Given the description of an element on the screen output the (x, y) to click on. 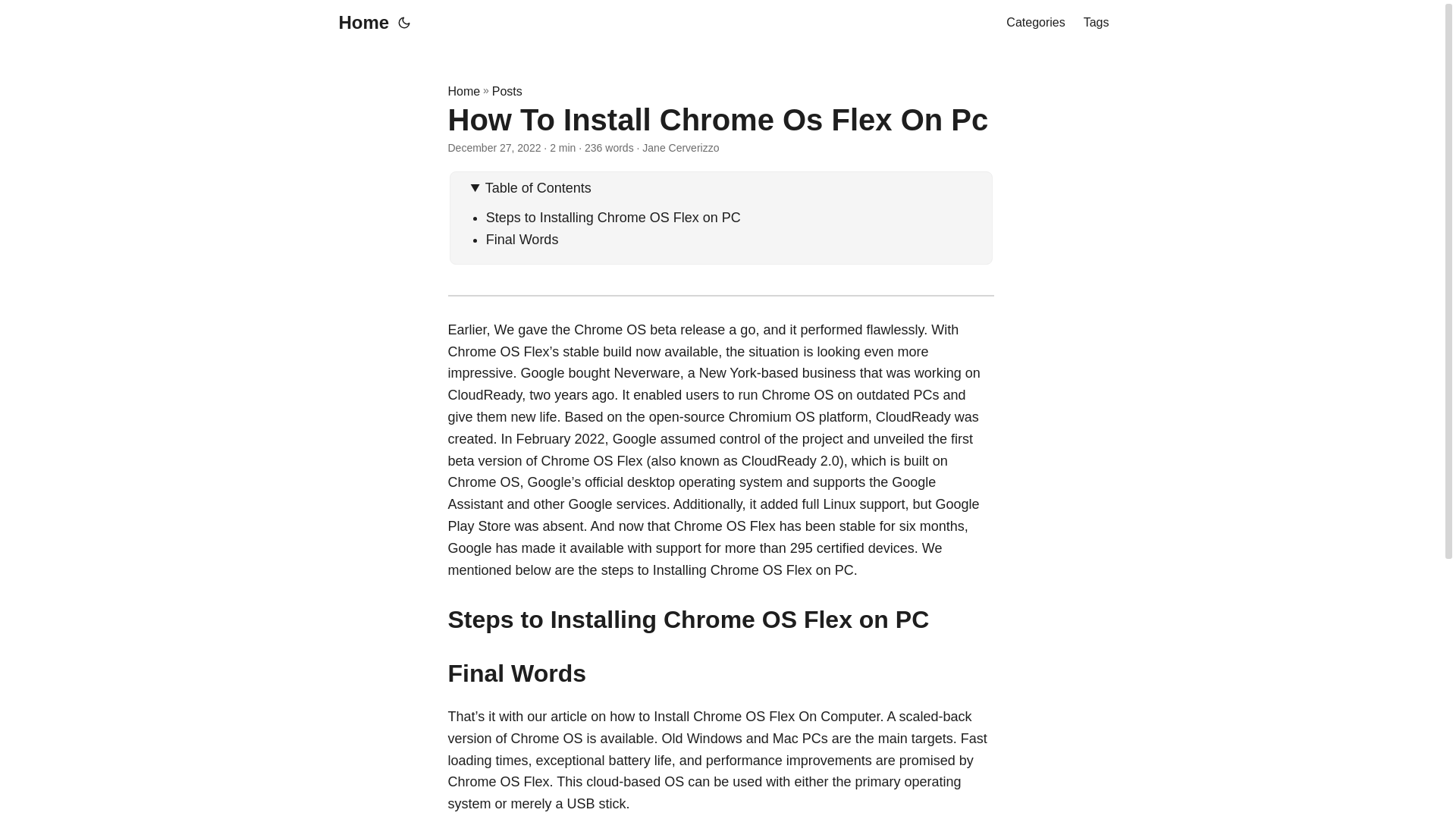
Steps to Installing Chrome OS Flex on PC (613, 217)
Categories (1035, 22)
Posts (507, 91)
Final Words (522, 239)
Home (359, 22)
Home (463, 91)
Categories (1035, 22)
